Given the description of an element on the screen output the (x, y) to click on. 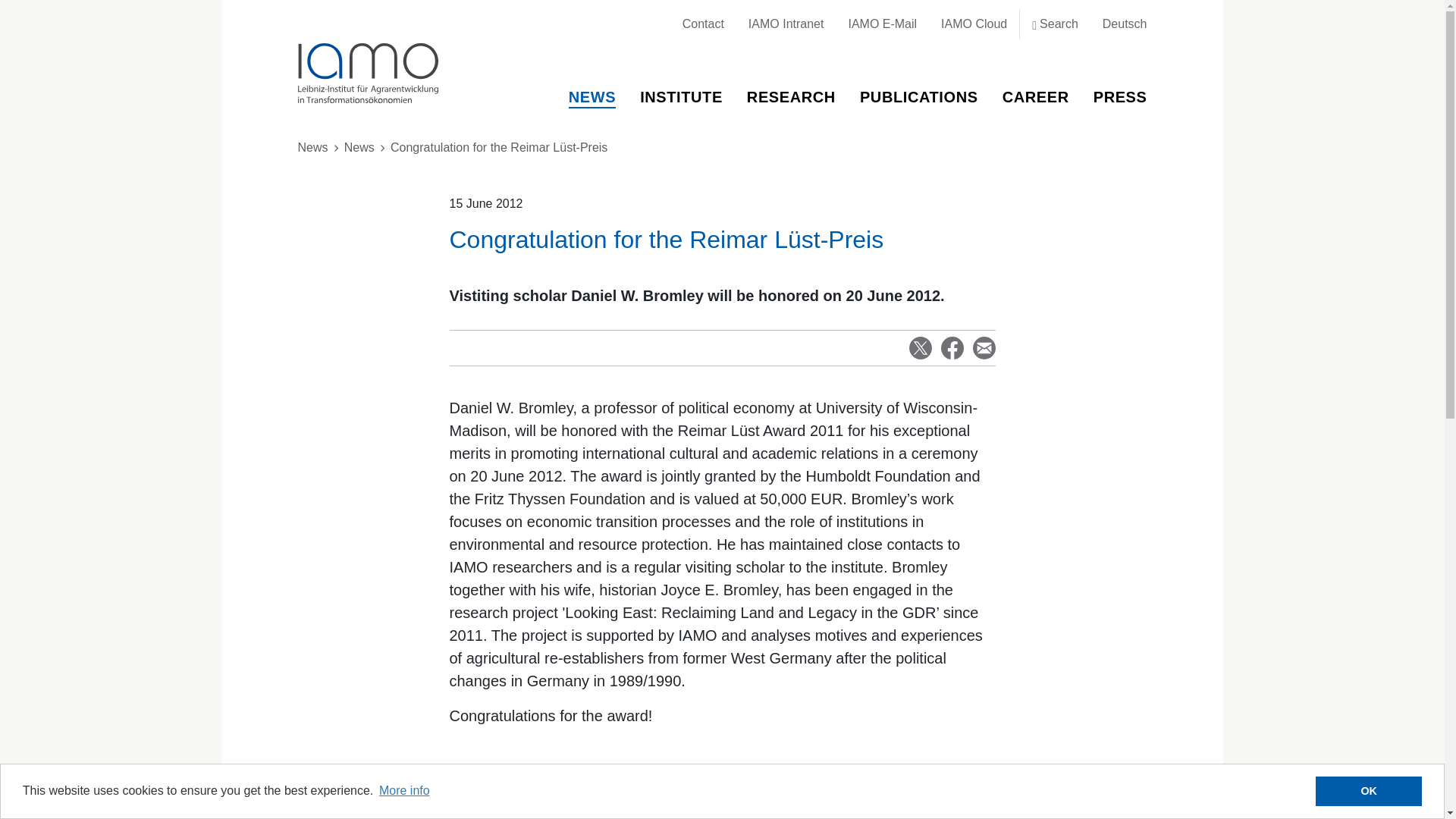
Send by email (983, 347)
More info (404, 790)
Share on Facebook (951, 347)
OK (1369, 791)
Share on X (919, 347)
